Given the description of an element on the screen output the (x, y) to click on. 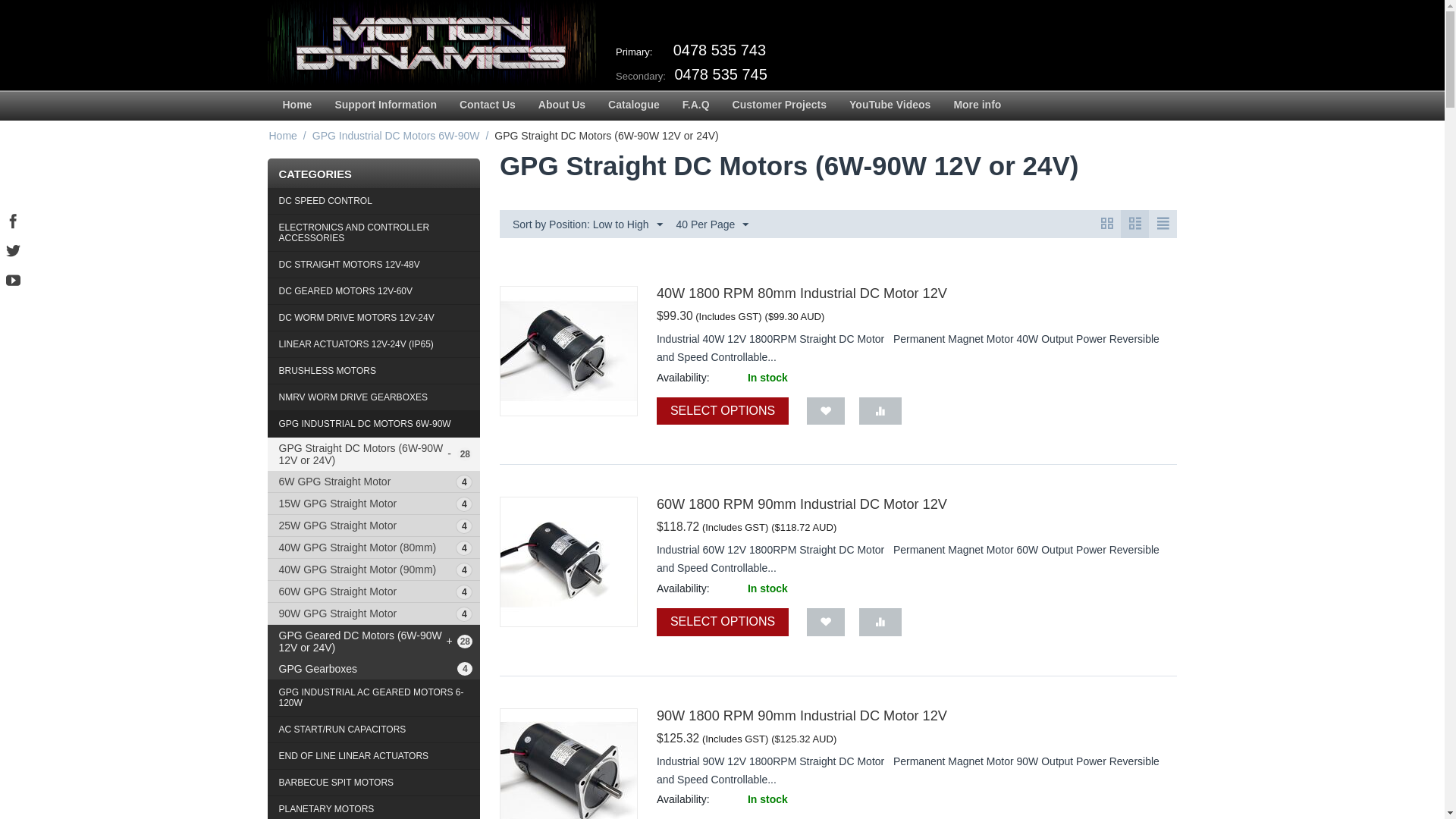
Support Information Element type: text (385, 105)
60W GPG Straight Motor
4 Element type: text (373, 591)
90W 1800 RPM 90mm Industrial DC Motor 12V Element type: text (801, 715)
BRUSHLESS MOTORS Element type: text (373, 370)
25W GPG Straight Motor
4 Element type: text (373, 525)
DC WORM DRIVE MOTORS 12V-24V Element type: text (373, 317)
0478 535 745 Element type: text (720, 73)
40W DC Motor Keyed Shaft Element type: hover (568, 561)
Add to comparison list Element type: hover (880, 622)
F.A.Q Element type: text (696, 105)
About Us Element type: text (561, 105)
0478 535 743 Element type: text (719, 49)
AC START/RUN CAPACITORS Element type: text (373, 729)
Home Element type: text (297, 105)
GPG INDUSTRIAL DC MOTORS 6W-90W Element type: text (373, 424)
40W 1800 RPM 80mm Industrial DC Motor 12V Element type: text (801, 293)
END OF LINE LINEAR ACTUATORS Element type: text (373, 756)
Add to comparison list Element type: hover (880, 411)
GPG Straight DC Motors (6W-90W 12V or 24V)
28 Element type: text (373, 453)
15W GPG Straight Motor
4 Element type: text (373, 503)
60W 1800 RPM 90mm Industrial DC Motor 12V Element type: text (801, 503)
Customer Projects Element type: text (779, 105)
40W DC Motor Keyed Shaft Element type: hover (568, 350)
SELECT OPTIONS Element type: text (722, 622)
GPG Industrial DC Motors 6W-90W Element type: text (395, 135)
DC SPEED CONTROL Element type: text (373, 201)
40W GPG Straight Motor (80mm)
4 Element type: text (373, 547)
DC GEARED MOTORS 12V-60V Element type: text (373, 291)
GPG Gearboxes
4 Element type: text (373, 668)
BARBECUE SPIT MOTORS Element type: text (373, 782)
90W GPG Straight Motor
4 Element type: text (373, 613)
More info Element type: text (976, 105)
Add to wish list Element type: hover (825, 622)
40W GPG Straight Motor (90mm)
4 Element type: text (373, 569)
40 Per Page Element type: text (712, 223)
GPG INDUSTRIAL AC GEARED MOTORS 6-120W Element type: text (373, 697)
GPG Geared DC Motors (6W-90W 12V or 24V)
28 Element type: text (373, 641)
ELECTRONICS AND CONTROLLER ACCESSORIES Element type: text (373, 232)
Catalogue Element type: text (633, 105)
NMRV WORM DRIVE GEARBOXES Element type: text (373, 397)
Add to wish list Element type: hover (825, 411)
Home Element type: text (282, 135)
6W GPG Straight Motor
4 Element type: text (373, 481)
Contact Us Element type: text (487, 105)
LINEAR ACTUATORS 12V-24V (IP65) Element type: text (373, 344)
Sort by Position: Low to High Element type: text (587, 223)
SELECT OPTIONS Element type: text (722, 411)
DC STRAIGHT MOTORS 12V-48V Element type: text (373, 264)
YouTube Videos Element type: text (889, 105)
